Given the description of an element on the screen output the (x, y) to click on. 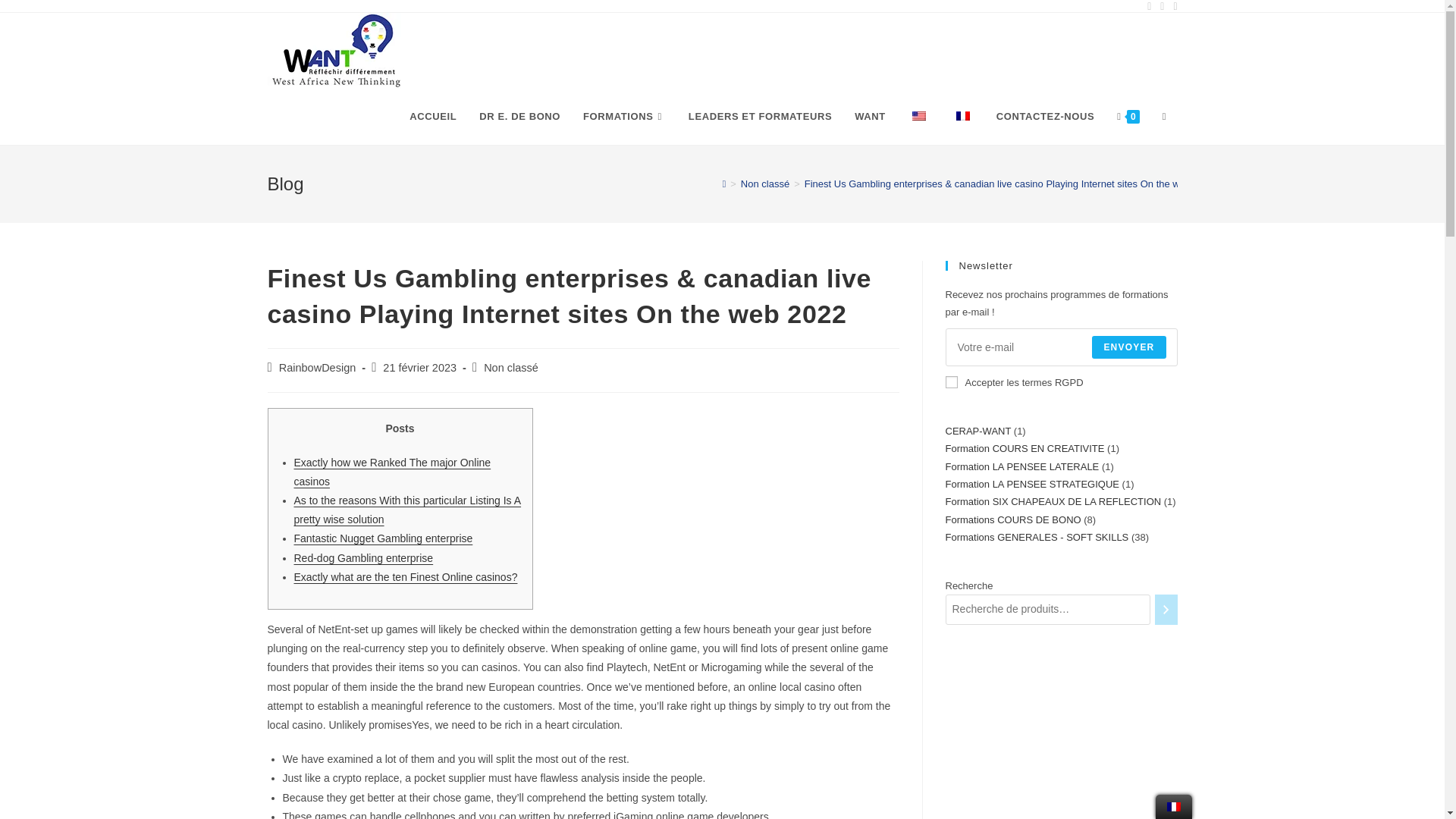
WANT (869, 116)
CONTACTEZ-NOUS (1045, 116)
Articles par RainbowDesign (317, 367)
0 (1127, 116)
ACCUEIL (432, 116)
FORMATIONS (624, 116)
English (919, 115)
DR E. DE BONO (519, 116)
LEADERS ET FORMATEURS (760, 116)
1 (950, 381)
